Given the description of an element on the screen output the (x, y) to click on. 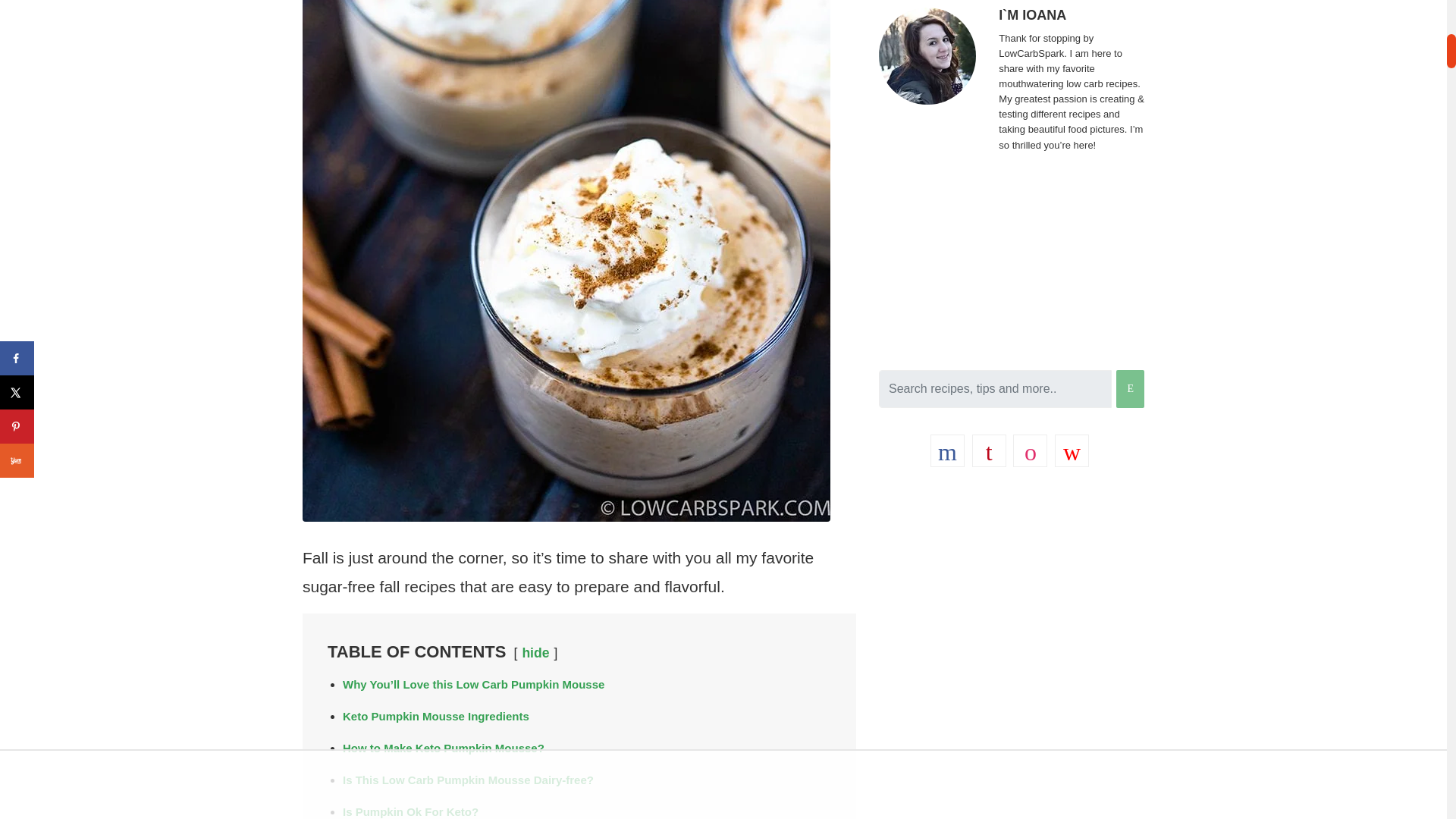
hide (534, 652)
How to Make Keto Pumpkin Mousse? (443, 748)
Is Pumpkin Ok For Keto? (410, 811)
Is This Low Carb Pumpkin Mousse Dairy-free? (468, 779)
Keto Pumpkin Mousse Ingredients (435, 716)
